Given the description of an element on the screen output the (x, y) to click on. 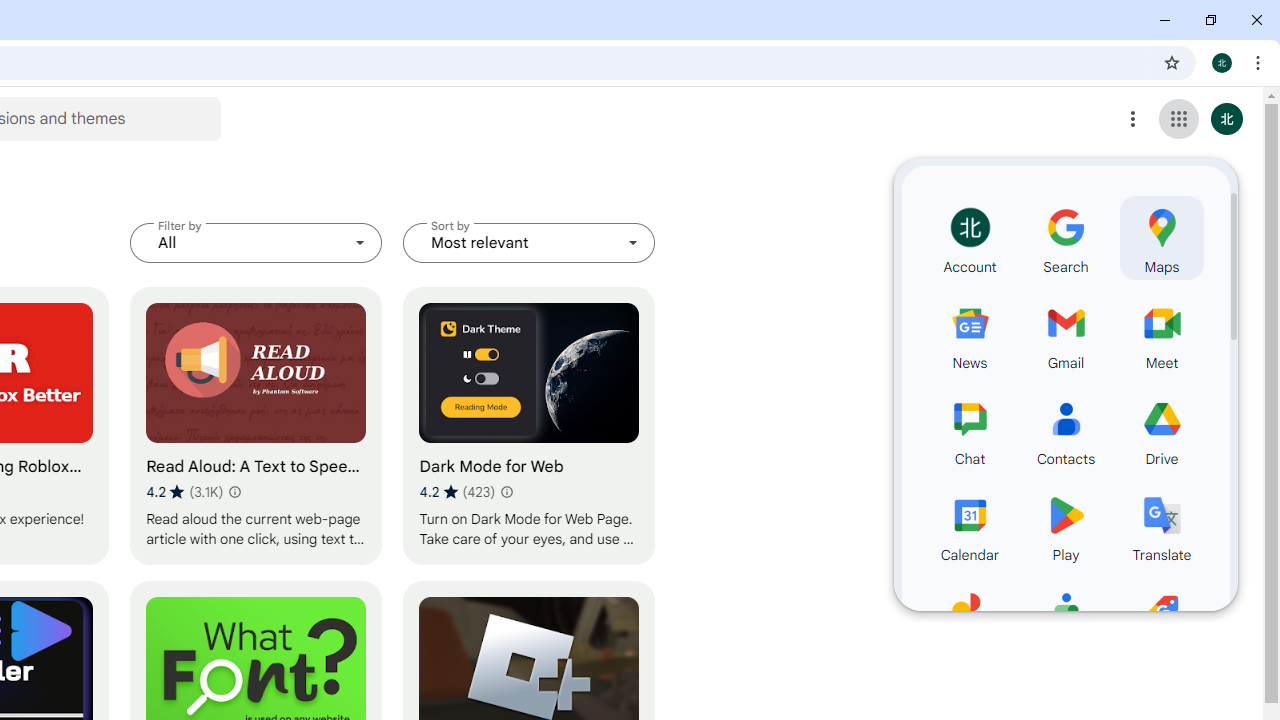
Learn more about results and reviews "Dark Mode for Web" (506, 491)
Read Aloud: A Text to Speech Voice Reader (256, 426)
